Given the description of an element on the screen output the (x, y) to click on. 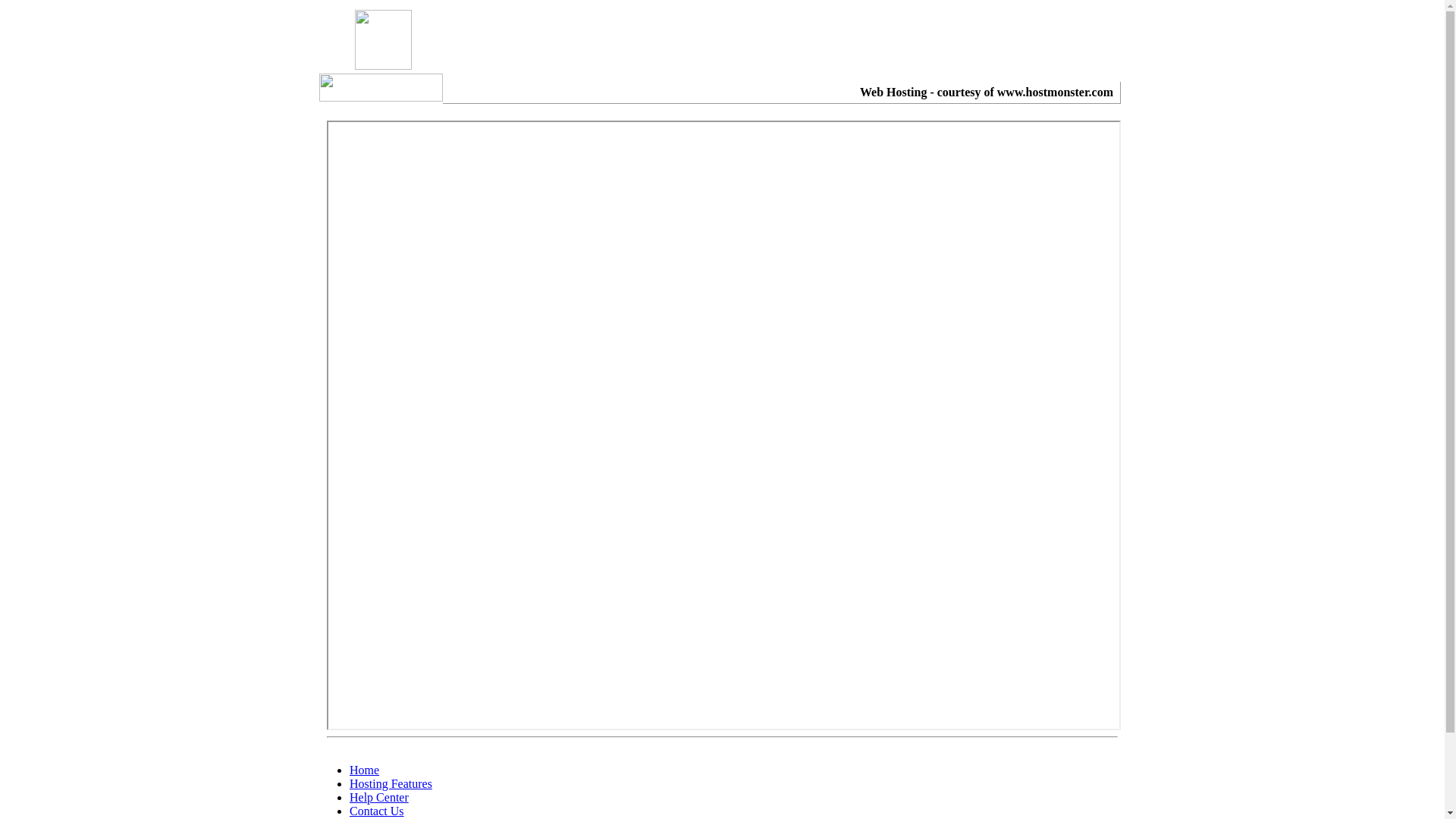
Help Center Element type: text (378, 796)
Home Element type: text (364, 769)
Contact Us Element type: text (376, 810)
Hosting Features Element type: text (390, 783)
Web Hosting - courtesy of www.hostmonster.com Element type: text (986, 91)
